Given the description of an element on the screen output the (x, y) to click on. 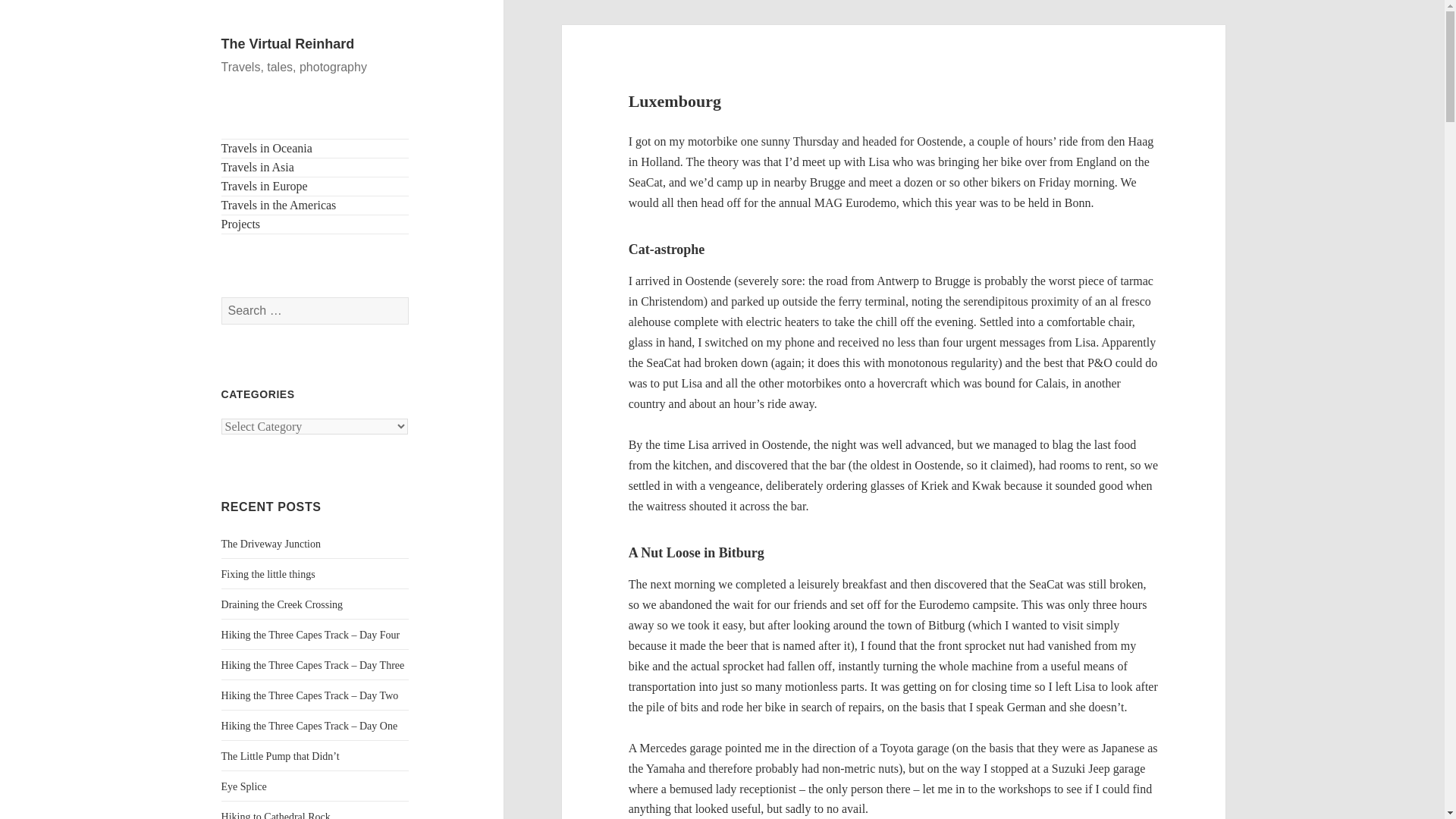
Draining the Creek Crossing (282, 604)
The Virtual Reinhard (288, 43)
Travels in the Americas (315, 205)
Eye Splice (243, 786)
Hiking to Cathedral Rock (275, 815)
Travels in Oceania (315, 148)
Projects (315, 224)
The Driveway Junction (270, 543)
Travels in Europe (315, 186)
Travels in Asia (315, 167)
Fixing the little things (268, 573)
